Given the description of an element on the screen output the (x, y) to click on. 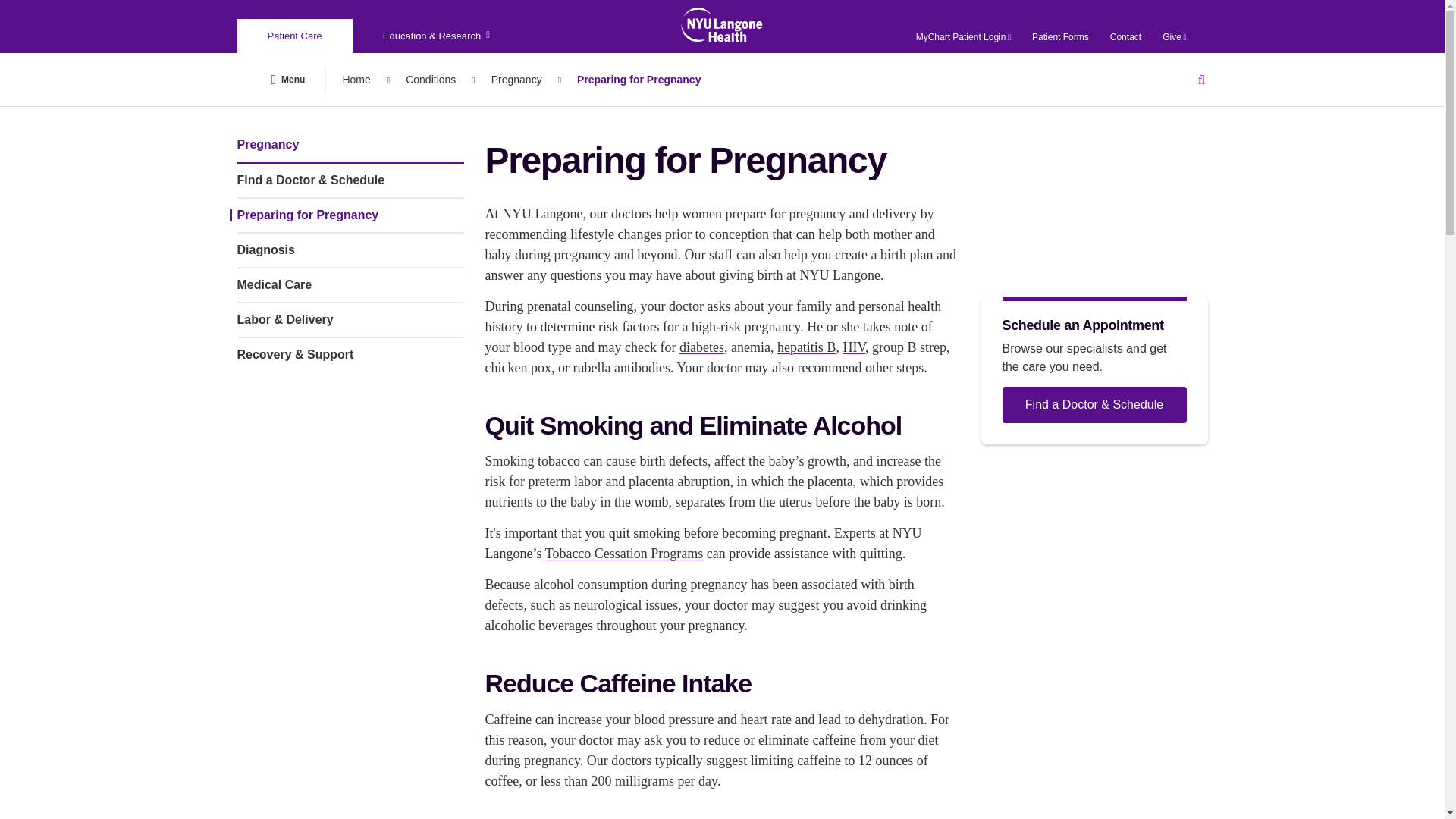
Menu (288, 79)
Patient Forms (1060, 36)
Patient Care (295, 35)
Pregnancy (516, 79)
Conditions (430, 79)
Home (355, 79)
Preparing for Pregnancy (638, 79)
Give (1173, 36)
Conditions (430, 79)
Home (355, 79)
